Given the description of an element on the screen output the (x, y) to click on. 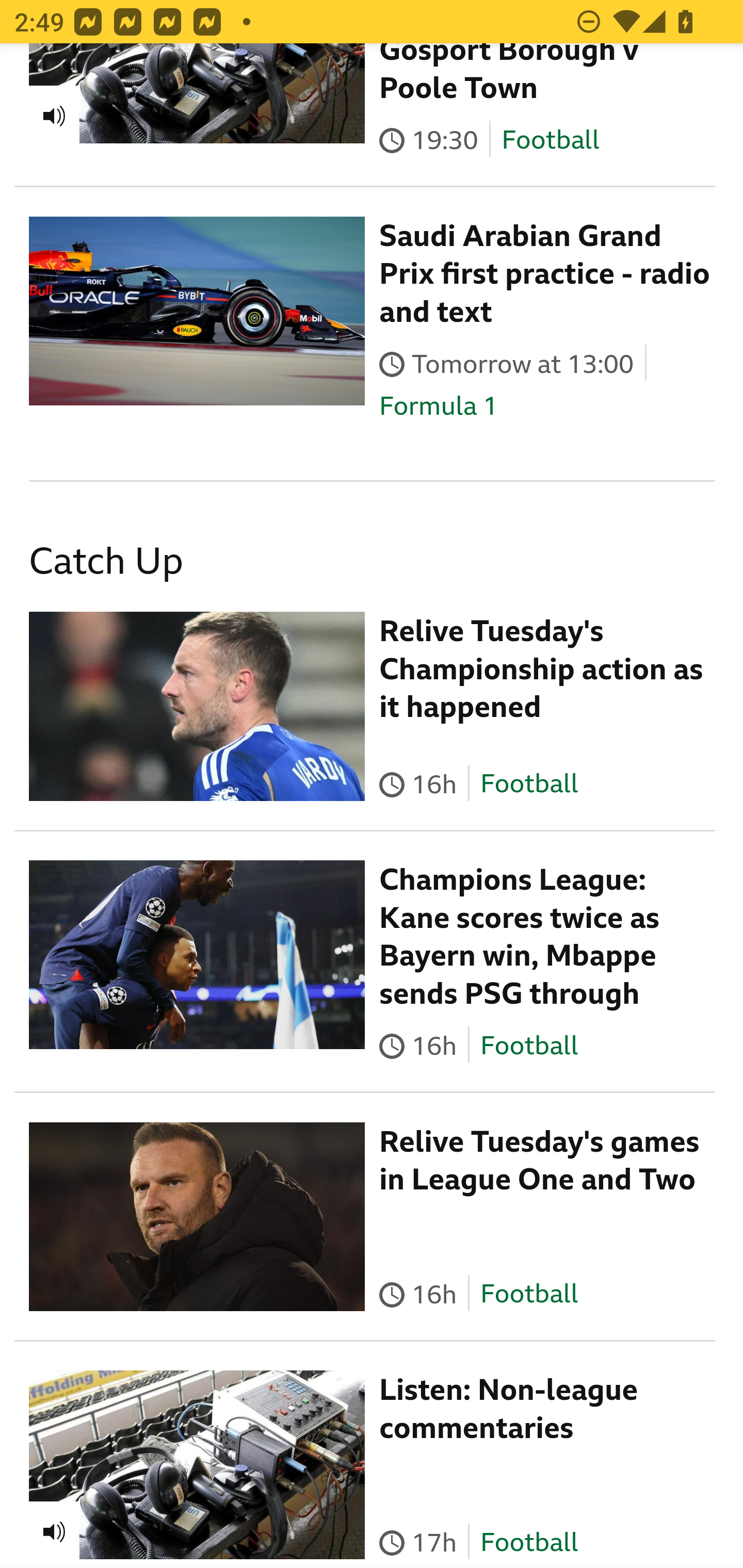
Football (550, 139)
Formula 1 (438, 405)
Football (528, 783)
Football (528, 1044)
Relive Tuesday's games in League One and Two (539, 1160)
Football (528, 1293)
Listen: Non-league commentaries (508, 1408)
Football (528, 1542)
